Given the description of an element on the screen output the (x, y) to click on. 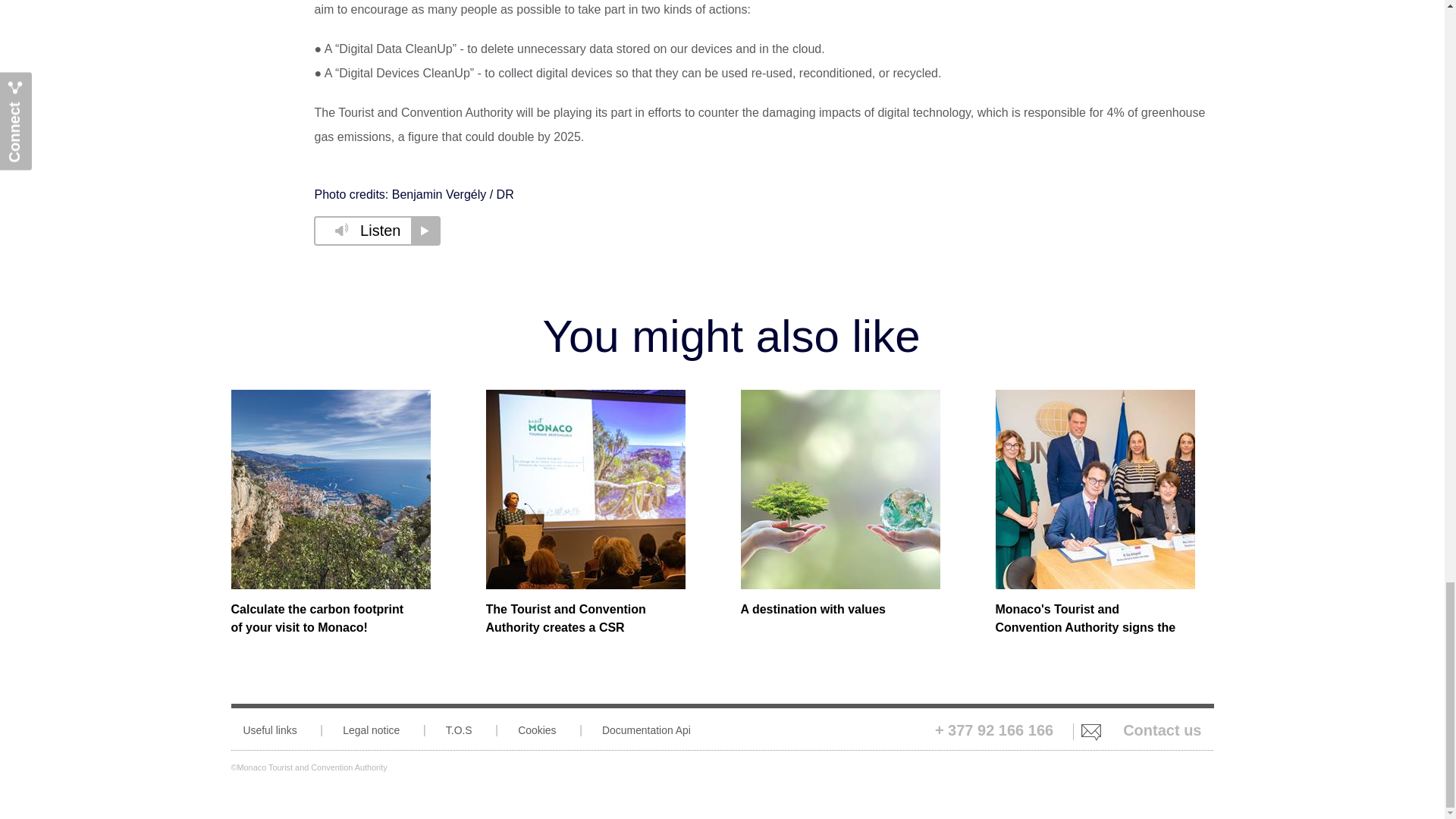
Listen with ReadSpeaker (377, 230)
